Given the description of an element on the screen output the (x, y) to click on. 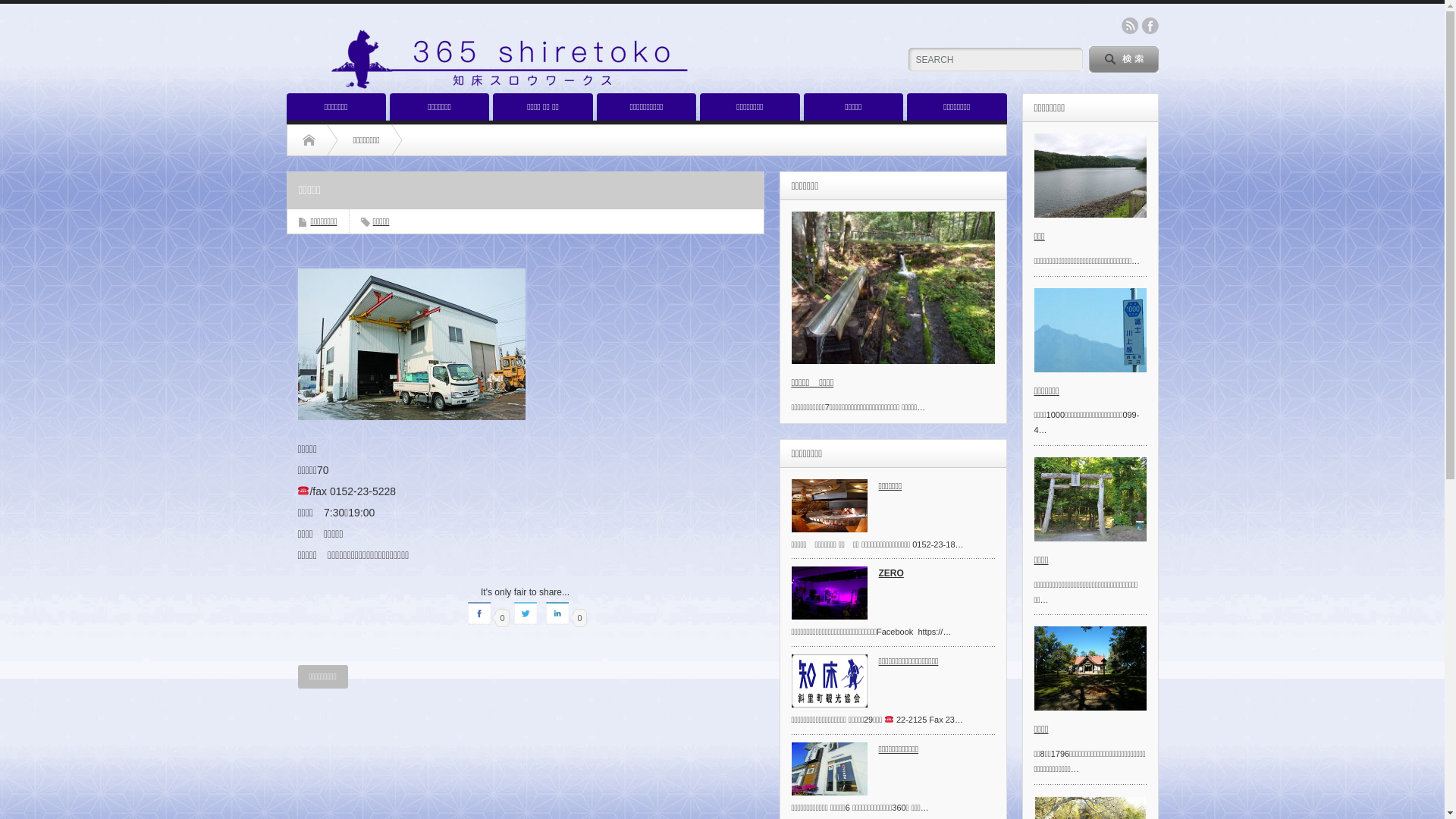
rss Element type: text (1128, 25)
facebook Element type: text (1150, 25)
LinkedIn Element type: hover (557, 613)
Twitter Element type: hover (525, 613)
ZERO Element type: text (892, 575)
365shiretoko Element type: hover (534, 59)
SEARCH Element type: text (1123, 59)
Home Element type: text (307, 140)
365shiretoko Element type: hover (534, 90)
Facebook Element type: hover (479, 613)
